Given the description of an element on the screen output the (x, y) to click on. 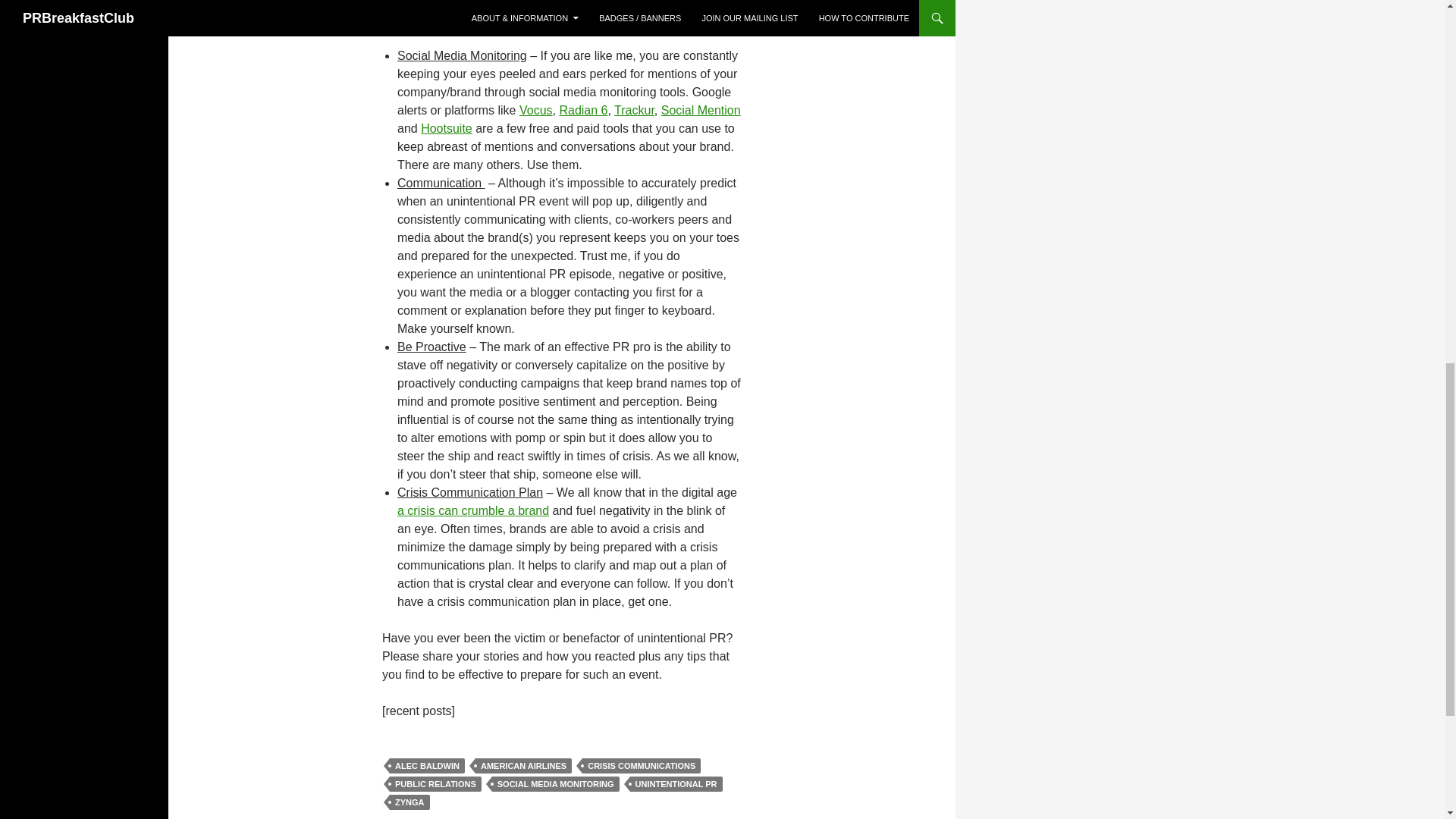
Hootsuite (445, 128)
Radian 6 (583, 110)
ALEC BALDWIN (427, 765)
UNINTENTIONAL PR (676, 783)
Trackur (633, 110)
Vocus (536, 110)
ZYNGA (409, 801)
CRISIS COMMUNICATIONS (641, 765)
PUBLIC RELATIONS (435, 783)
a crisis can crumble a brand (472, 510)
SOCIAL MEDIA MONITORING (556, 783)
AMERICAN AIRLINES (524, 765)
Social Mention (701, 110)
